Given the description of an element on the screen output the (x, y) to click on. 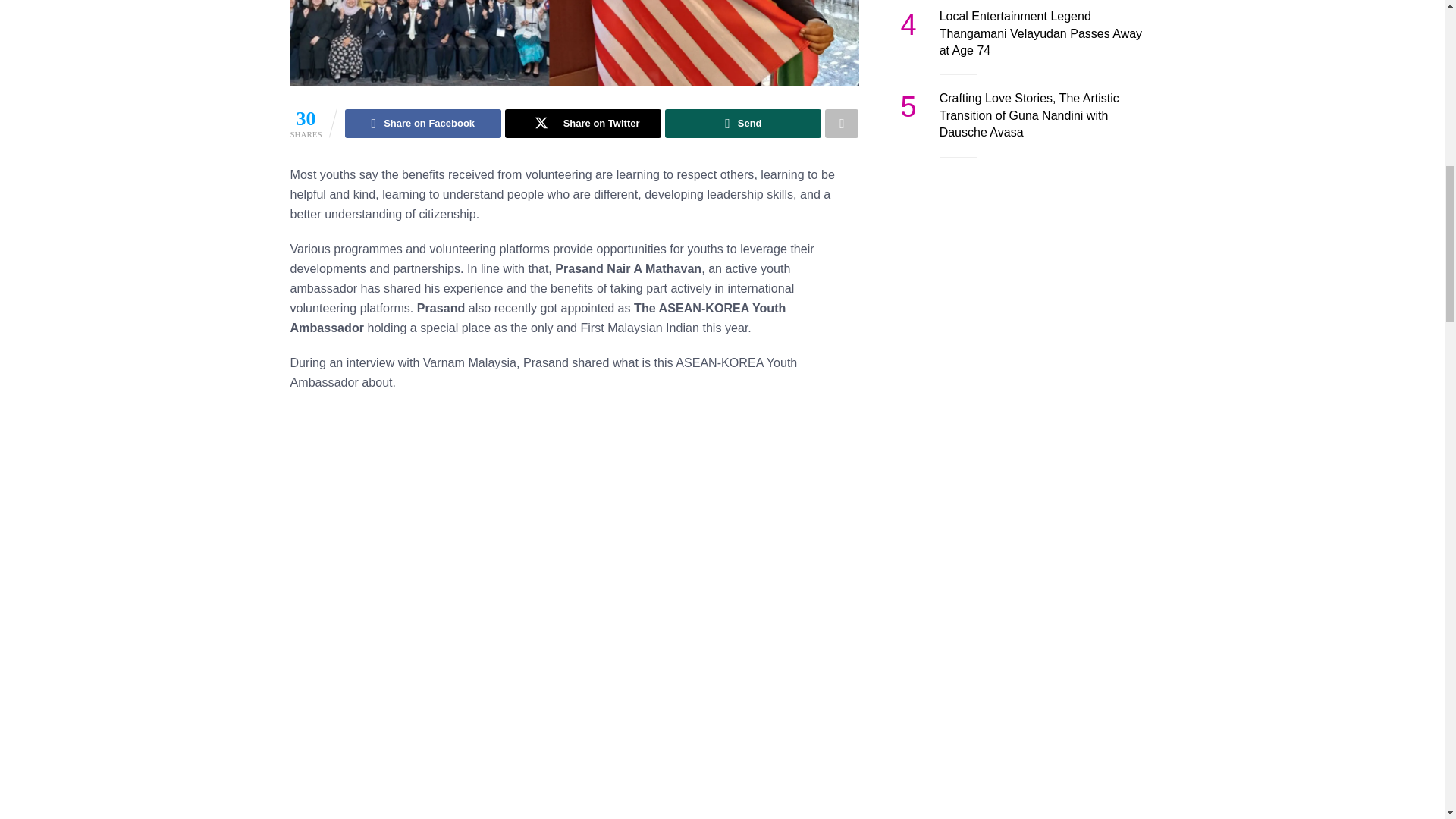
Share on Twitter (583, 123)
Send (743, 123)
Share on Facebook (422, 123)
